Given the description of an element on the screen output the (x, y) to click on. 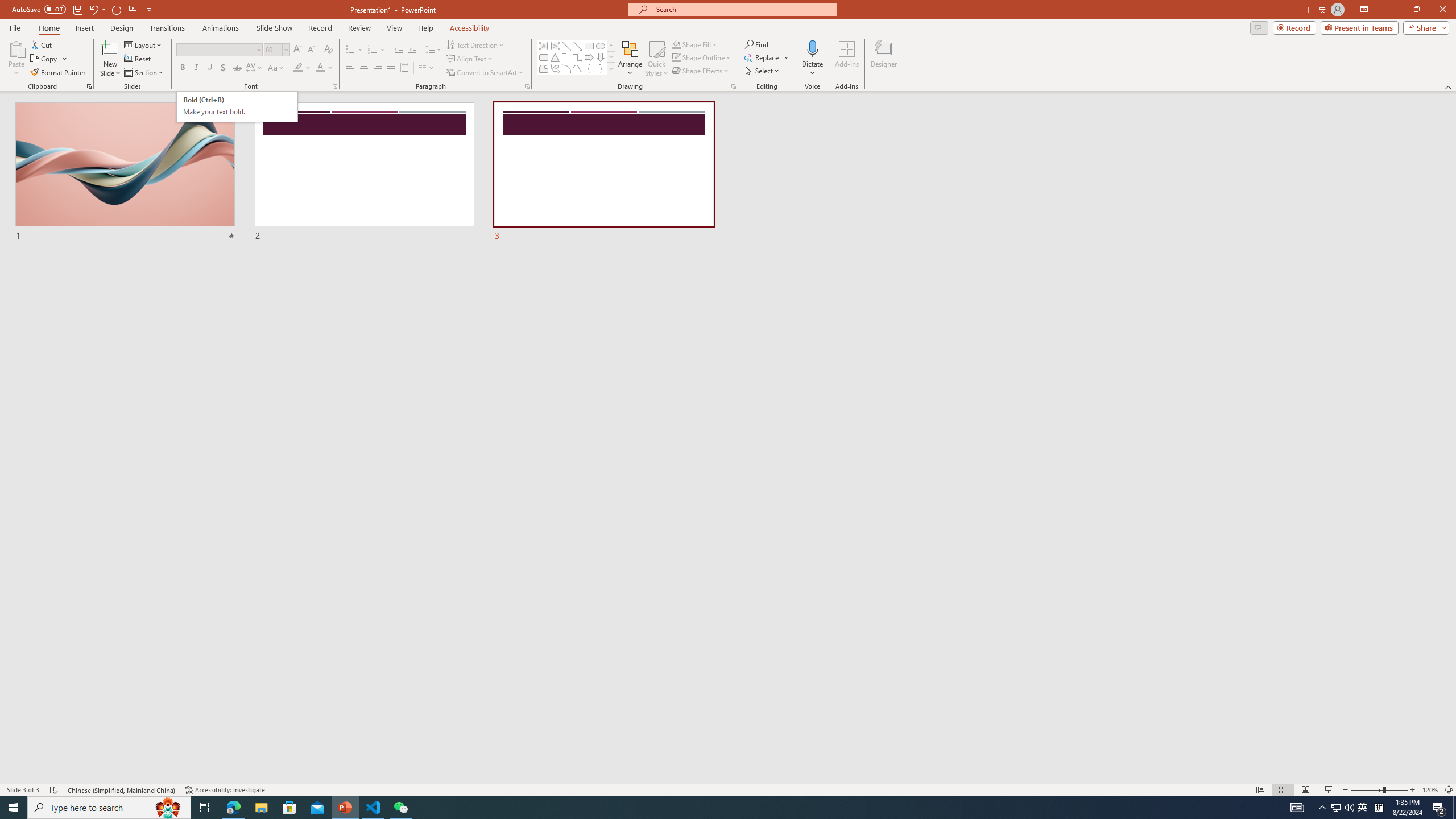
Class: MsoCommandBar (728, 789)
Shape Fill (694, 44)
Minimize (1390, 9)
Insert (83, 28)
Class: NetUIImage (610, 68)
Replace... (767, 56)
Italic (195, 67)
Shadow (223, 67)
Columns (426, 67)
Record (320, 28)
Font Size (273, 49)
Quick Styles (656, 58)
Layout (143, 44)
Customize Quick Access Toolbar (149, 9)
Record (1294, 27)
